Given the description of an element on the screen output the (x, y) to click on. 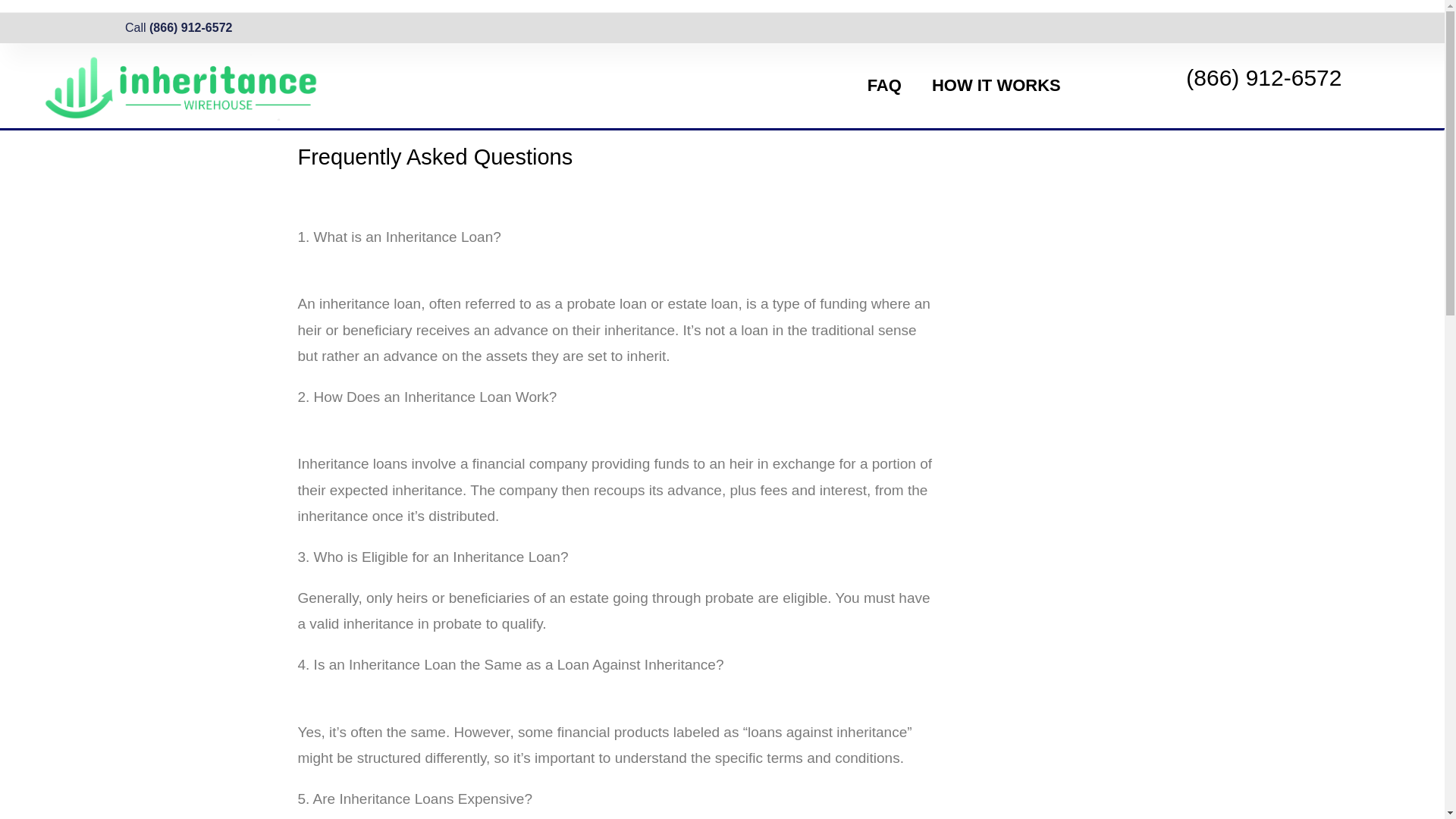
HOW IT WORKS (996, 85)
FAQ (884, 85)
